Given the description of an element on the screen output the (x, y) to click on. 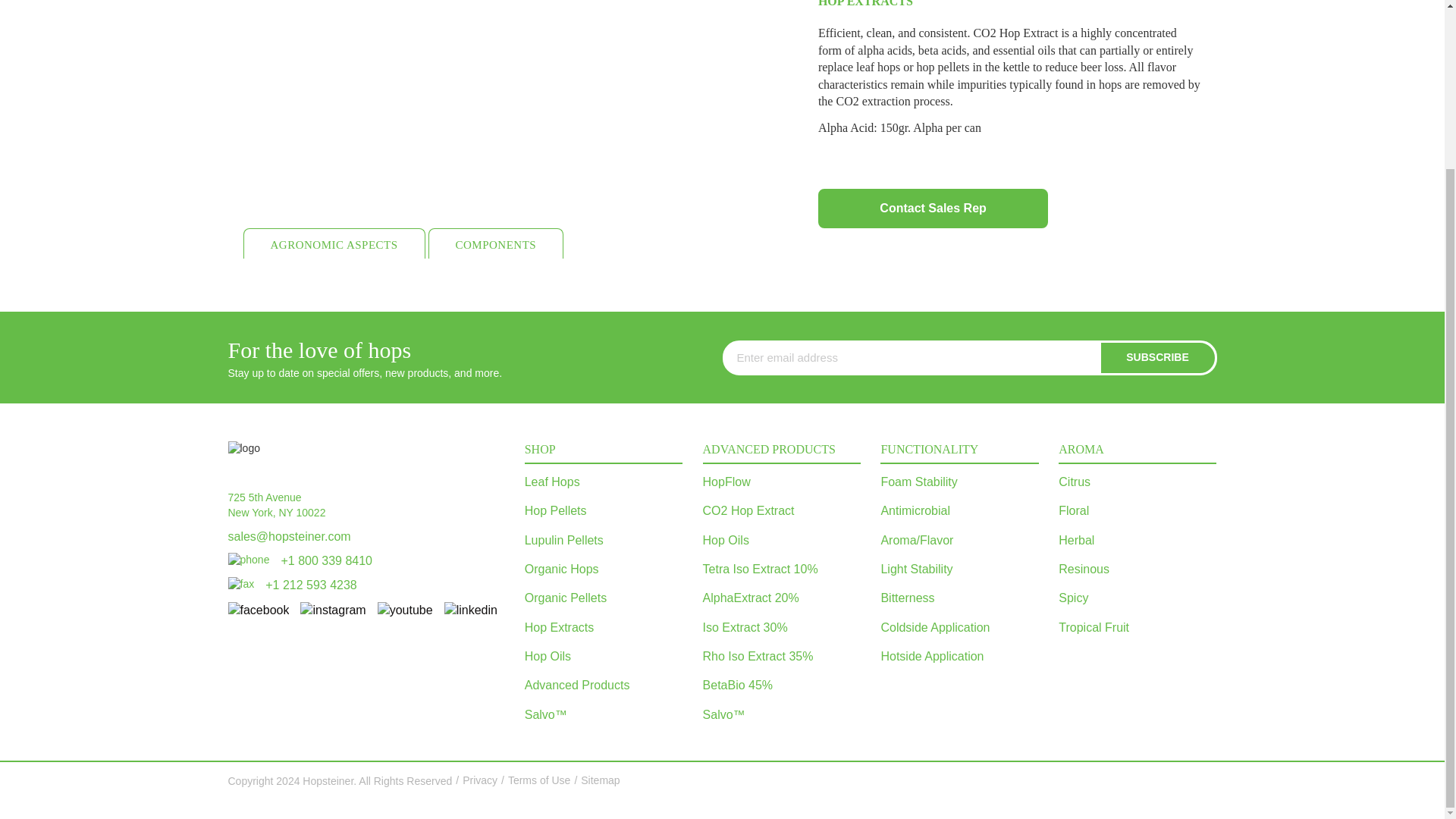
Contact Sales Rep (933, 208)
Organic Pellets (603, 597)
COMPONENTS (496, 243)
SUBSCRIBE (1157, 358)
Lupulin Pellets (603, 540)
AGRONOMIC ASPECTS (334, 243)
Organic Hops (603, 569)
Subscribe (1157, 358)
Leaf Hops (603, 481)
Hop Pellets (603, 510)
